Given the description of an element on the screen output the (x, y) to click on. 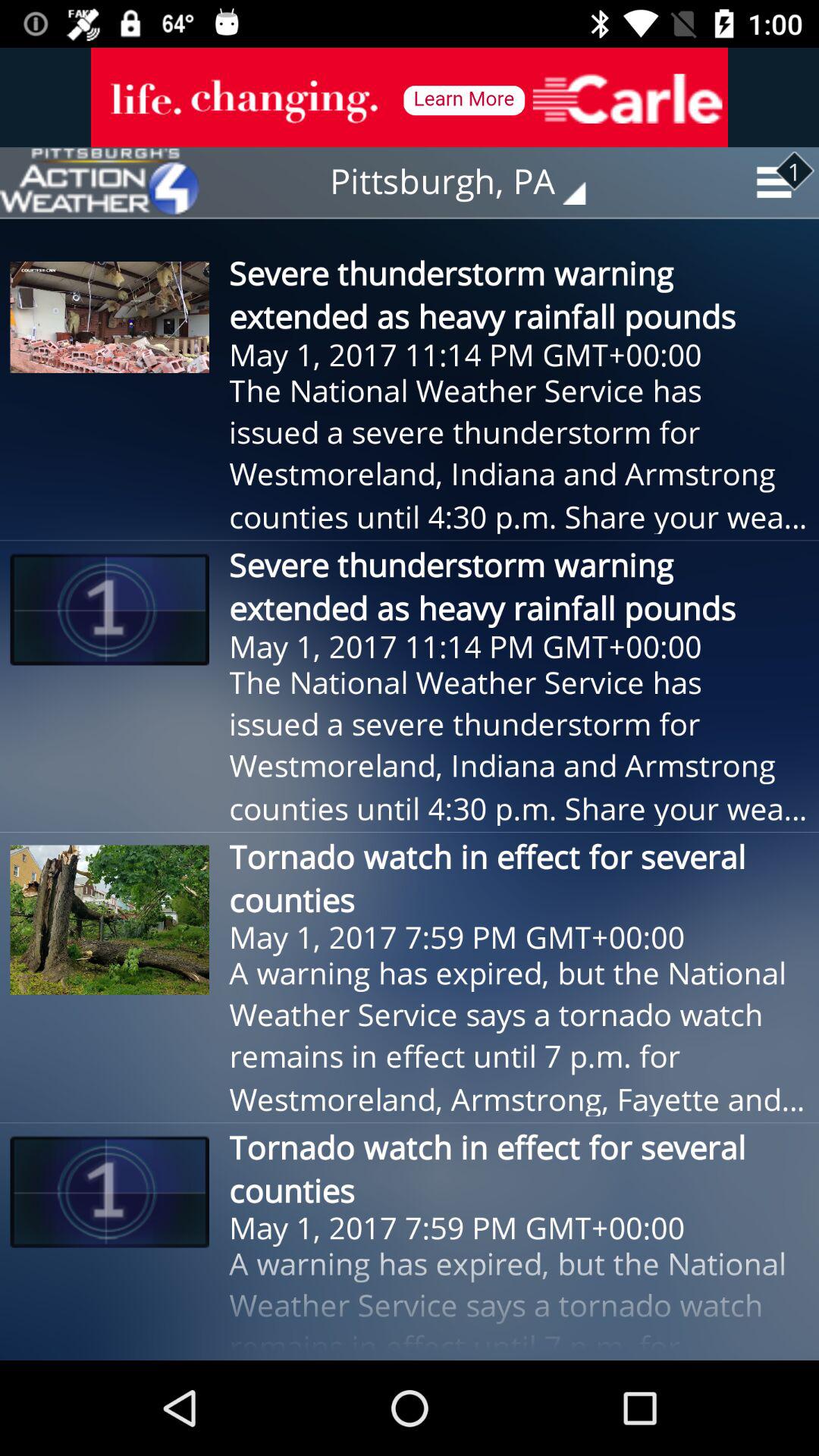
medical advertisement (409, 97)
